Given the description of an element on the screen output the (x, y) to click on. 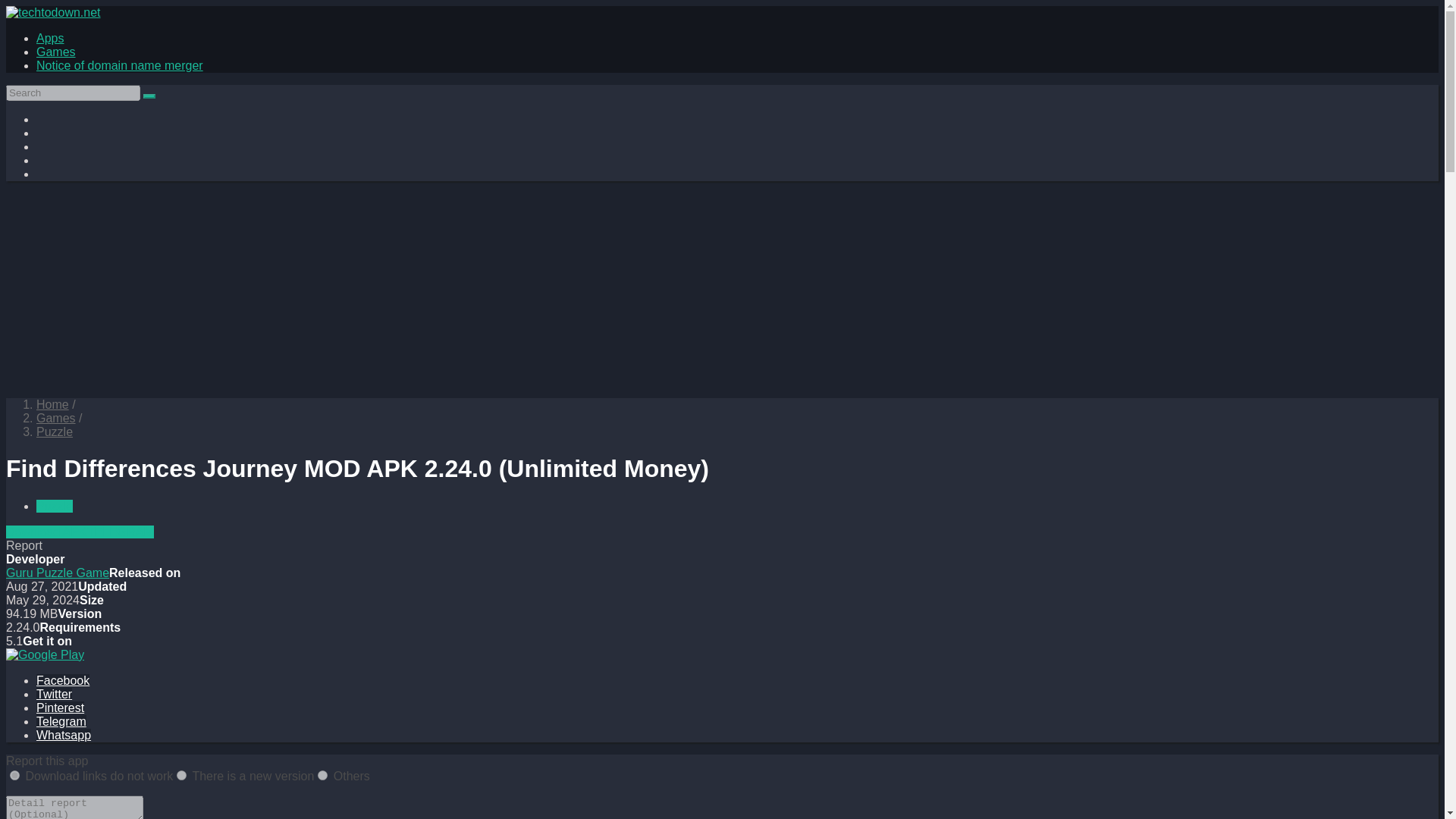
Download APK (46, 531)
Download APK (46, 531)
techtodown.net (52, 404)
Games (55, 418)
Games (55, 51)
3 (322, 775)
Twitter (53, 694)
Puzzle (54, 431)
Facebook (62, 680)
1 (15, 775)
Puzzle (54, 505)
Whatsapp (63, 735)
TELEGRAM (120, 531)
Pinterest (60, 707)
2 (181, 775)
